Given the description of an element on the screen output the (x, y) to click on. 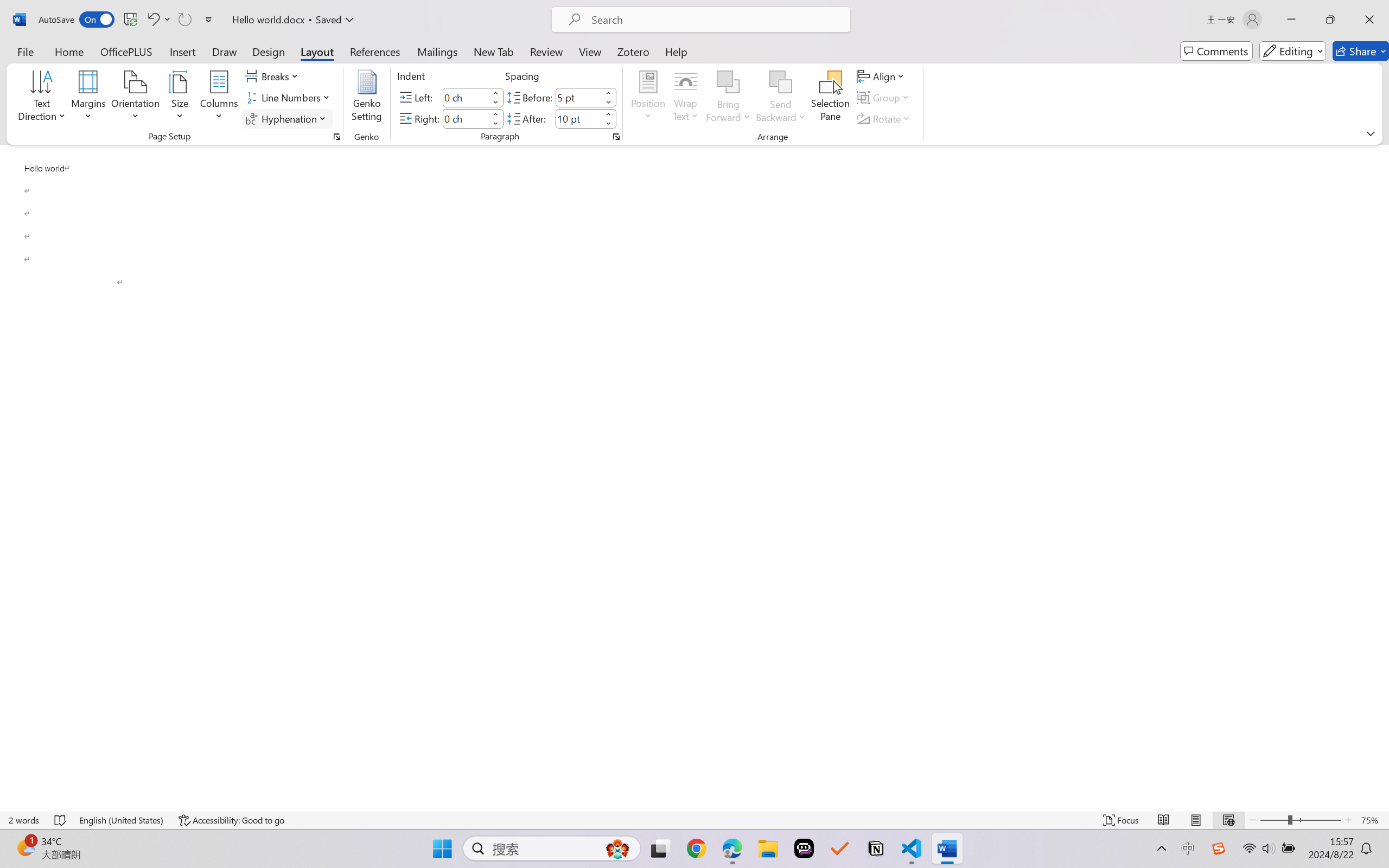
Undo Apply Quick Style Set (158, 19)
Class: NetUIScrollBar (1382, 477)
Web Layout (1228, 819)
Genko Setting... (367, 97)
Restore Down (1330, 19)
Customize Quick Access Toolbar (208, 19)
Spelling and Grammar Check No Errors (60, 819)
Breaks (273, 75)
Bring Forward (728, 97)
Language English (United States) (121, 819)
Home (69, 51)
Send Backward (781, 97)
Spacing After (578, 118)
Minimize (1291, 19)
